Given the description of an element on the screen output the (x, y) to click on. 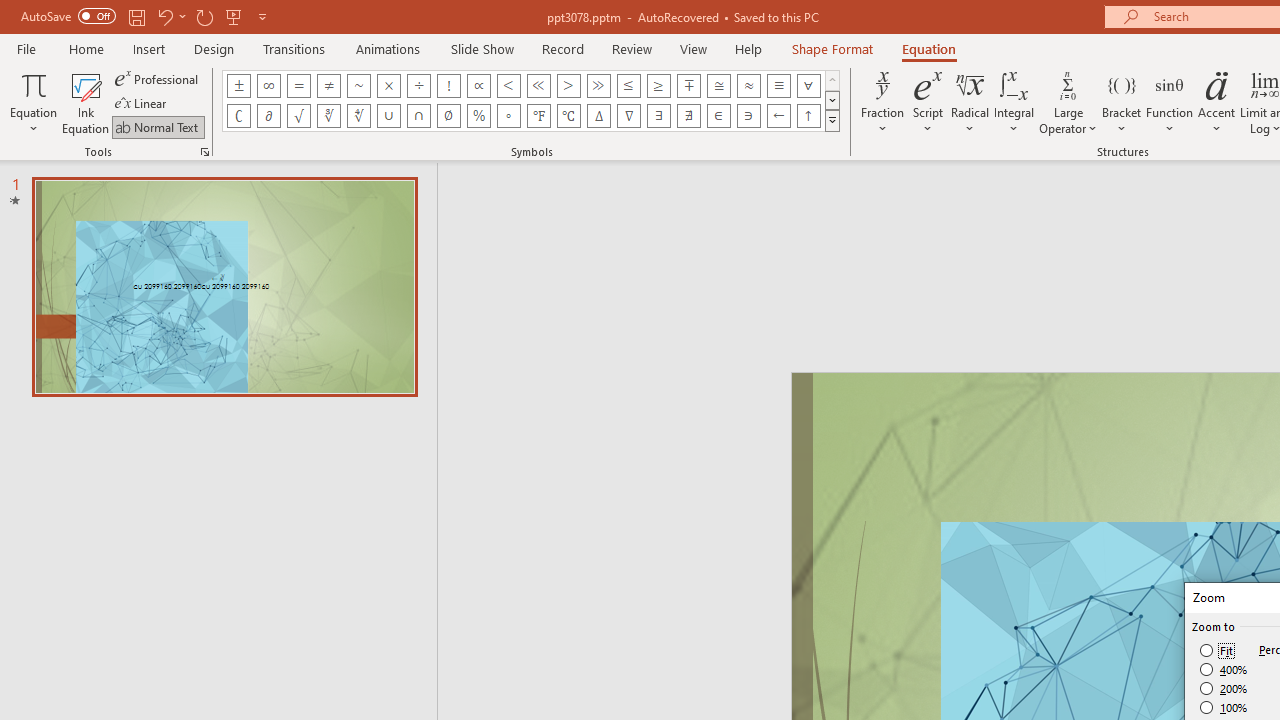
Equation Symbol Degrees Fahrenheit (538, 115)
Ink Equation (86, 102)
Equation Options... (204, 151)
AutomationID: EquationSymbolsInsertGallery (532, 100)
200% (1224, 688)
Large Operator (1067, 102)
Equation Symbol Complement (238, 115)
Equation Symbol Multiplication Sign (388, 85)
Equation Symbol Factorial (448, 85)
